Given the description of an element on the screen output the (x, y) to click on. 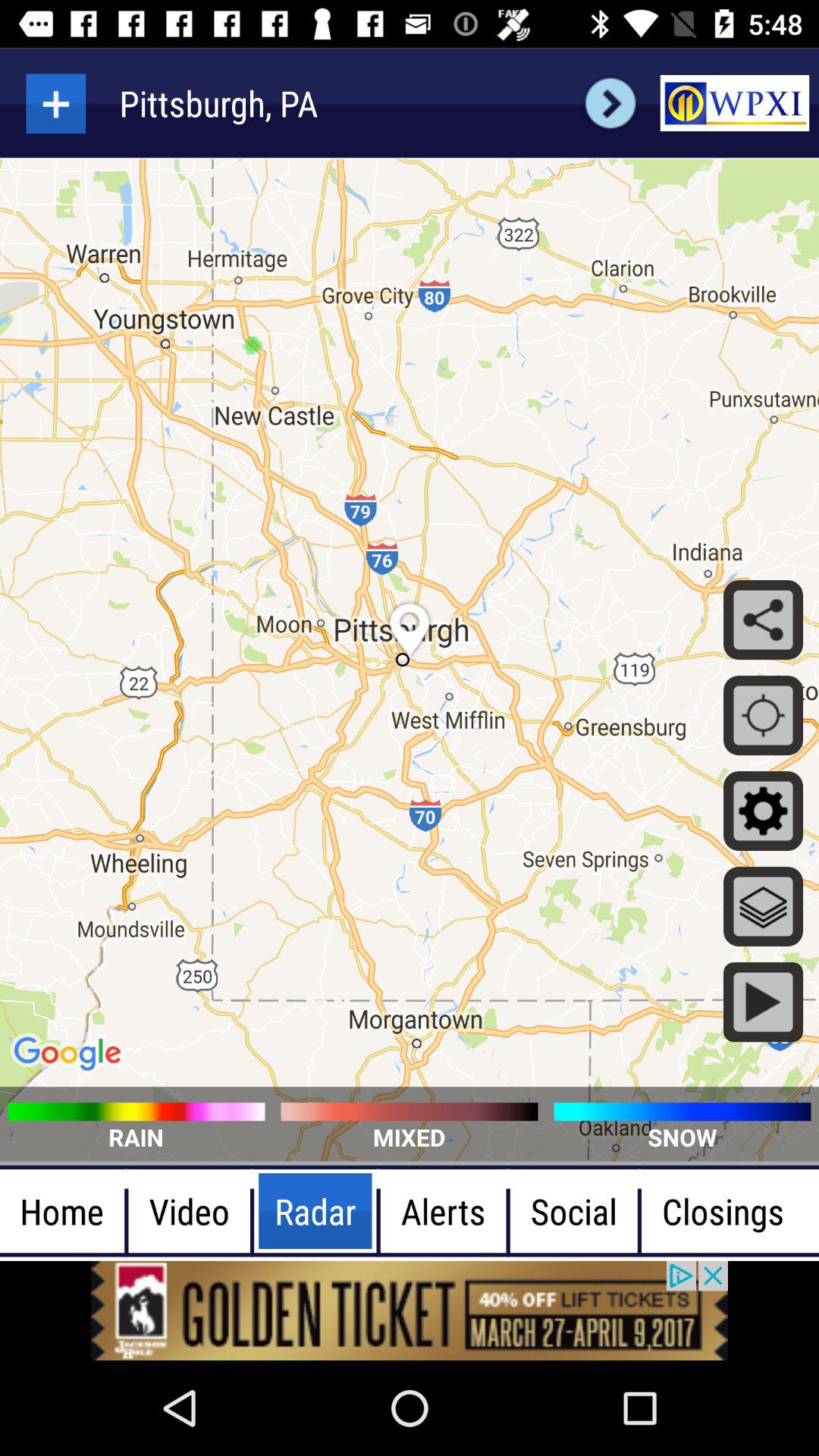
go forward (610, 103)
